Given the description of an element on the screen output the (x, y) to click on. 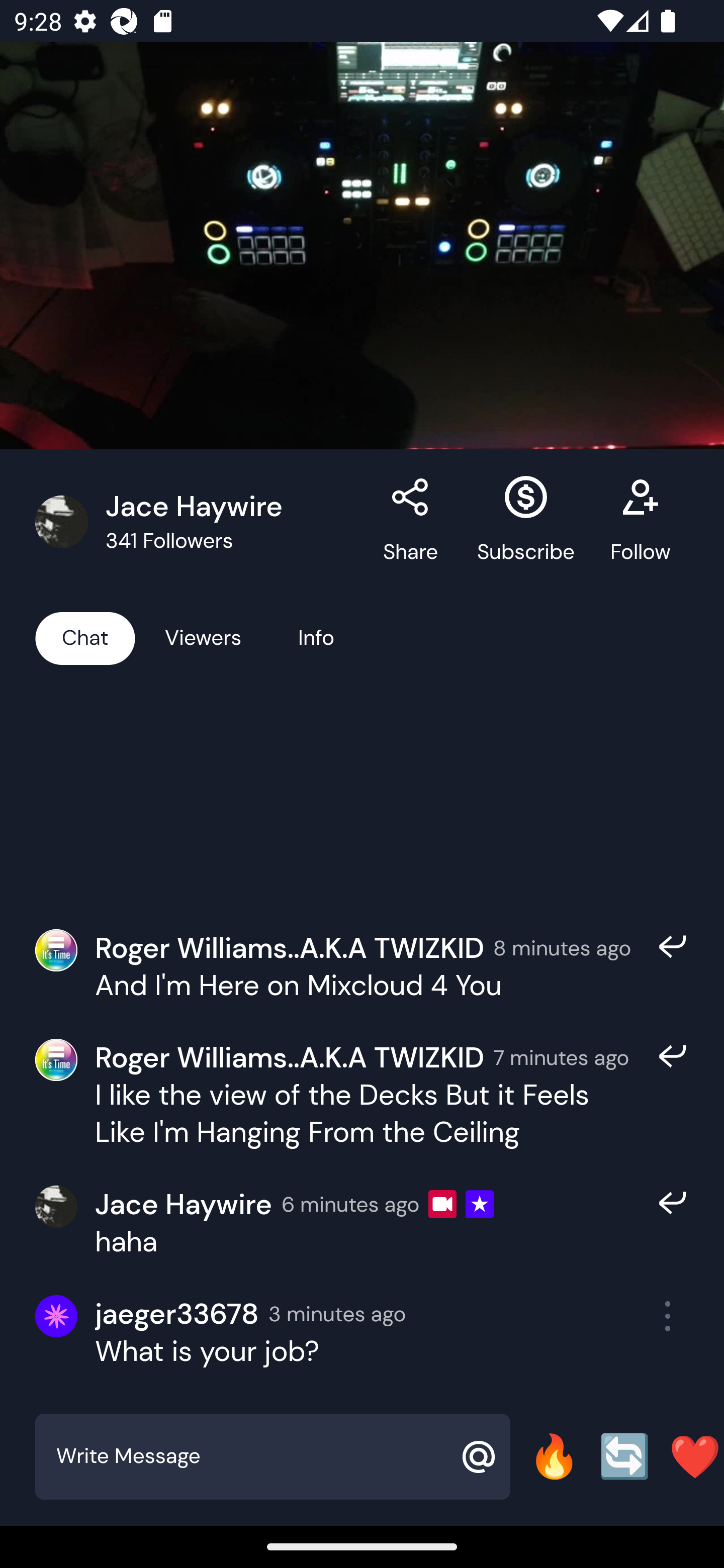
Share (410, 521)
Subscribe (525, 521)
Follow (640, 521)
Chat (84, 636)
Viewers (203, 636)
Info (316, 636)
Roger Williams..A.K.A TWIZKID (289, 947)
Roger Williams..A.K.A TWIZKID (289, 1056)
Jace Haywire (183, 1204)
jaeger33678 (176, 1313)
Write Message (250, 1456)
🔥 (553, 1456)
🔄 (624, 1456)
❤️ (694, 1456)
